Given the description of an element on the screen output the (x, y) to click on. 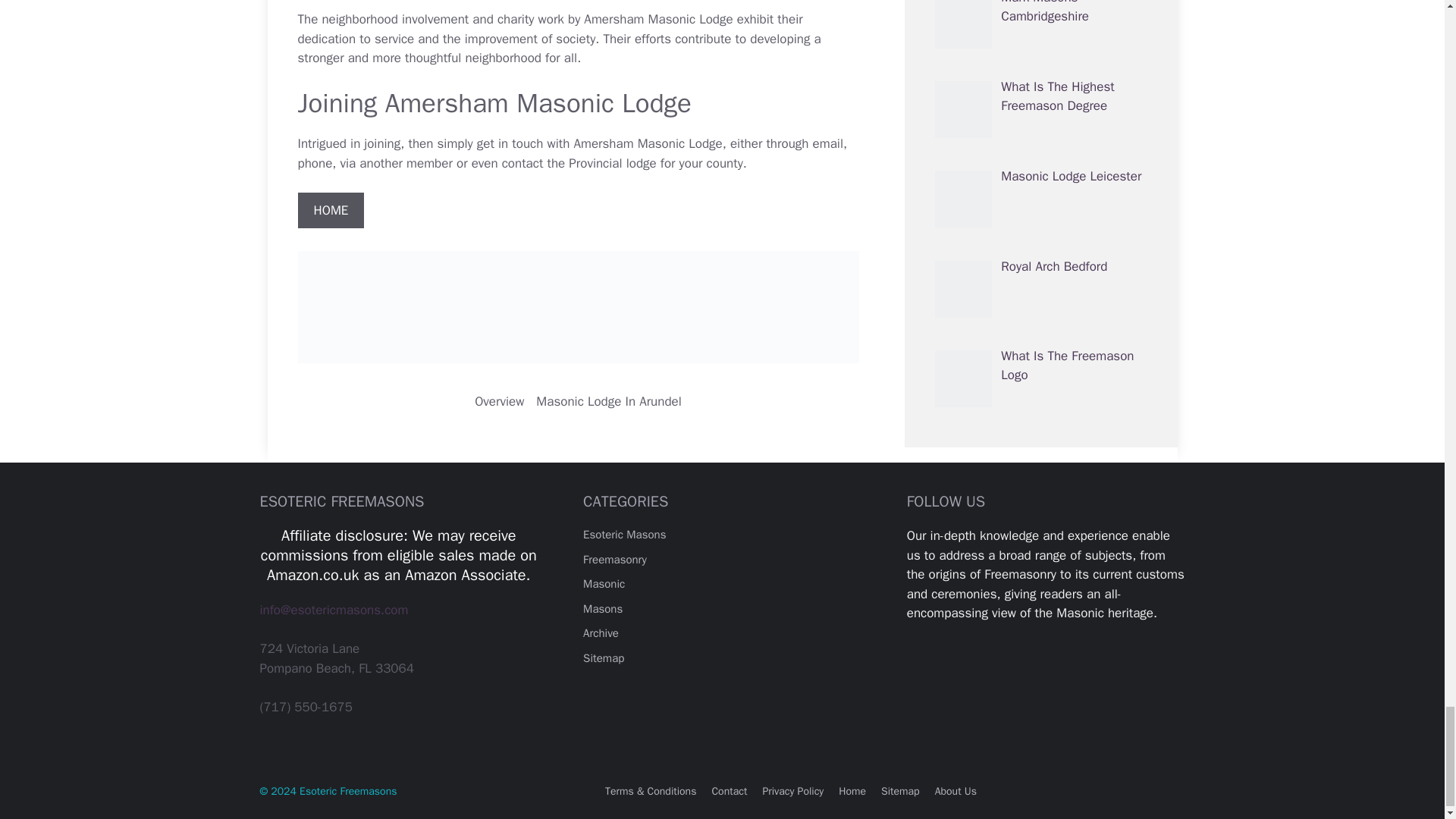
Overview (499, 401)
Masonic Lodge In Arundel (608, 401)
HOME (330, 210)
